Given the description of an element on the screen output the (x, y) to click on. 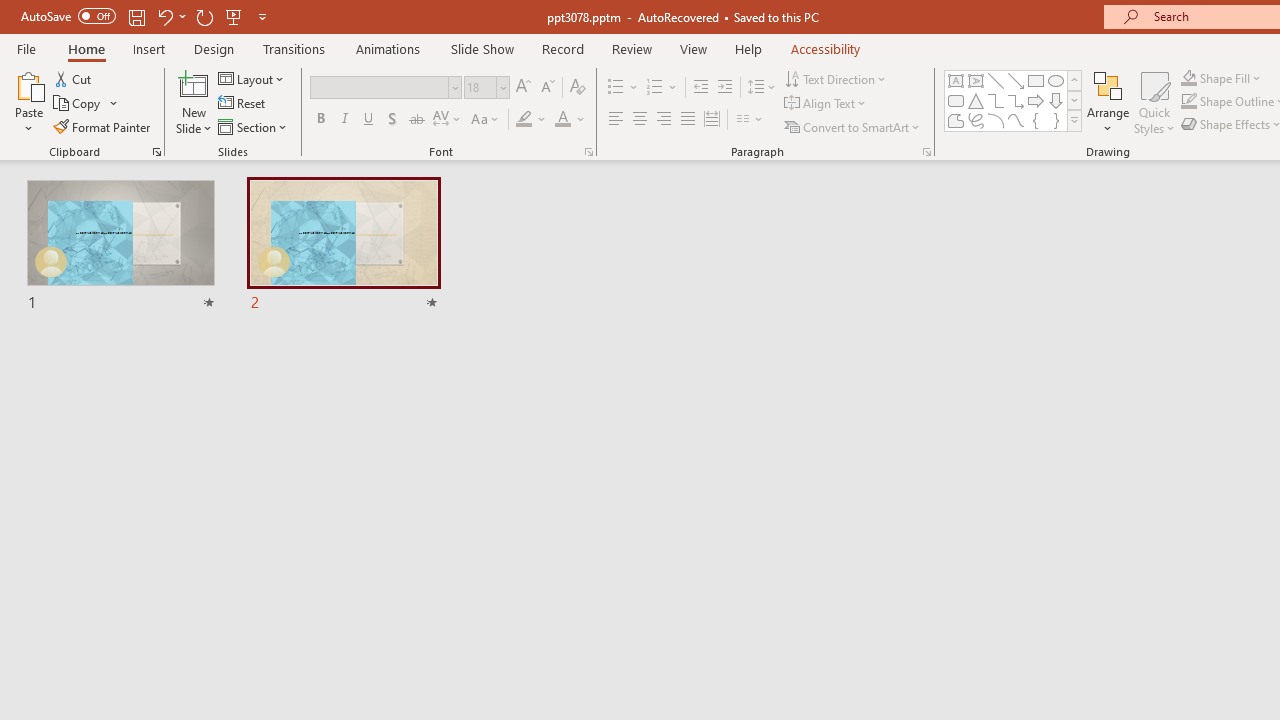
More Options (1232, 78)
Paste (28, 102)
Oval (1055, 80)
Numbering (654, 87)
Justify (687, 119)
Shadow (392, 119)
Line (995, 80)
Insert (149, 48)
Arc (995, 120)
From Beginning (234, 15)
Bullets (616, 87)
Isosceles Triangle (975, 100)
File Tab (26, 48)
Customize Quick Access Toolbar (262, 15)
Paste (28, 84)
